Given the description of an element on the screen output the (x, y) to click on. 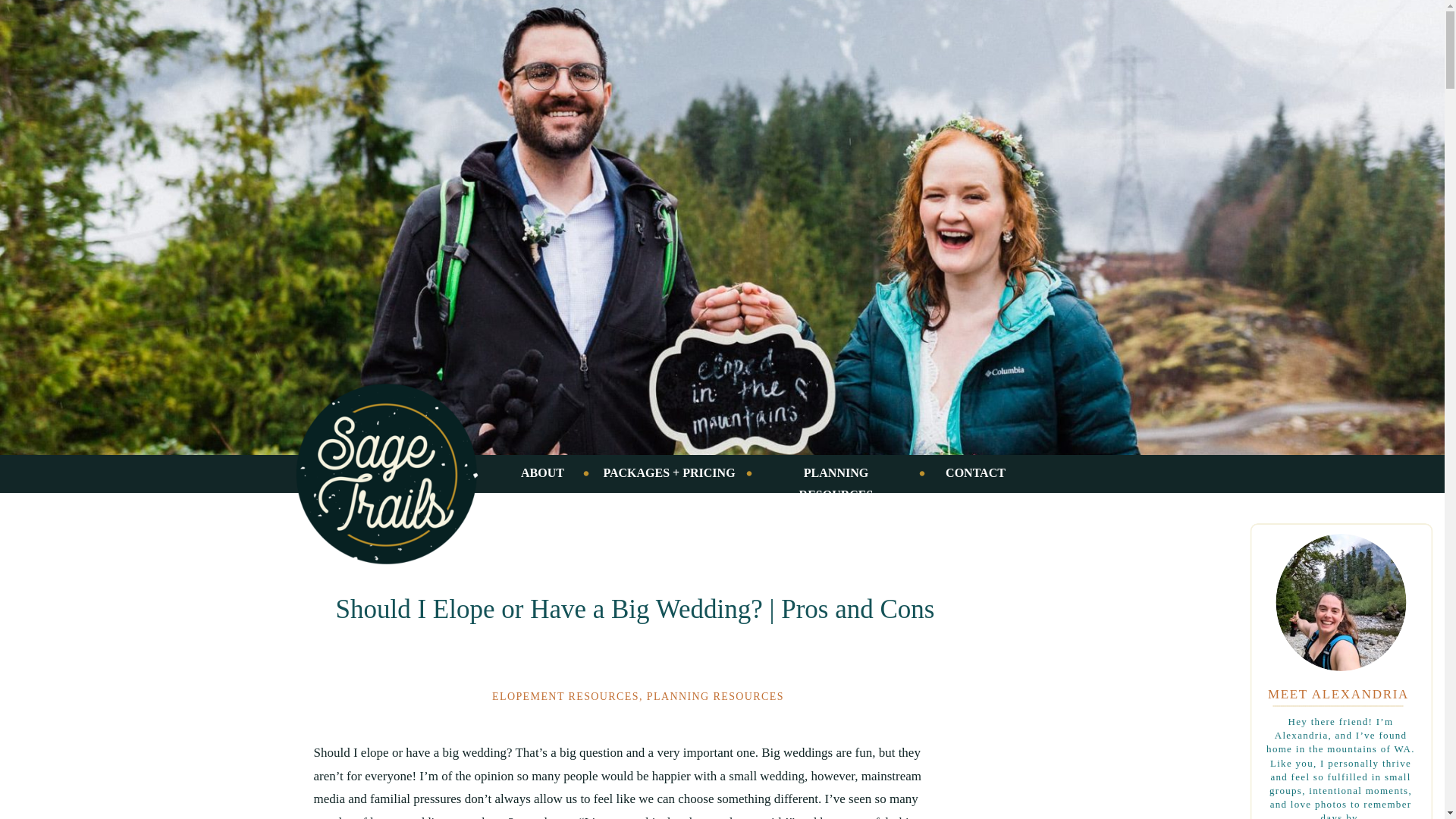
PLANNING RESOURCES (835, 473)
ELOPEMENT RESOURCES (565, 696)
ABOUT (542, 473)
PLANNING RESOURCES (715, 696)
CONTACT (975, 473)
MEET ALEXANDRIA (1337, 692)
